Given the description of an element on the screen output the (x, y) to click on. 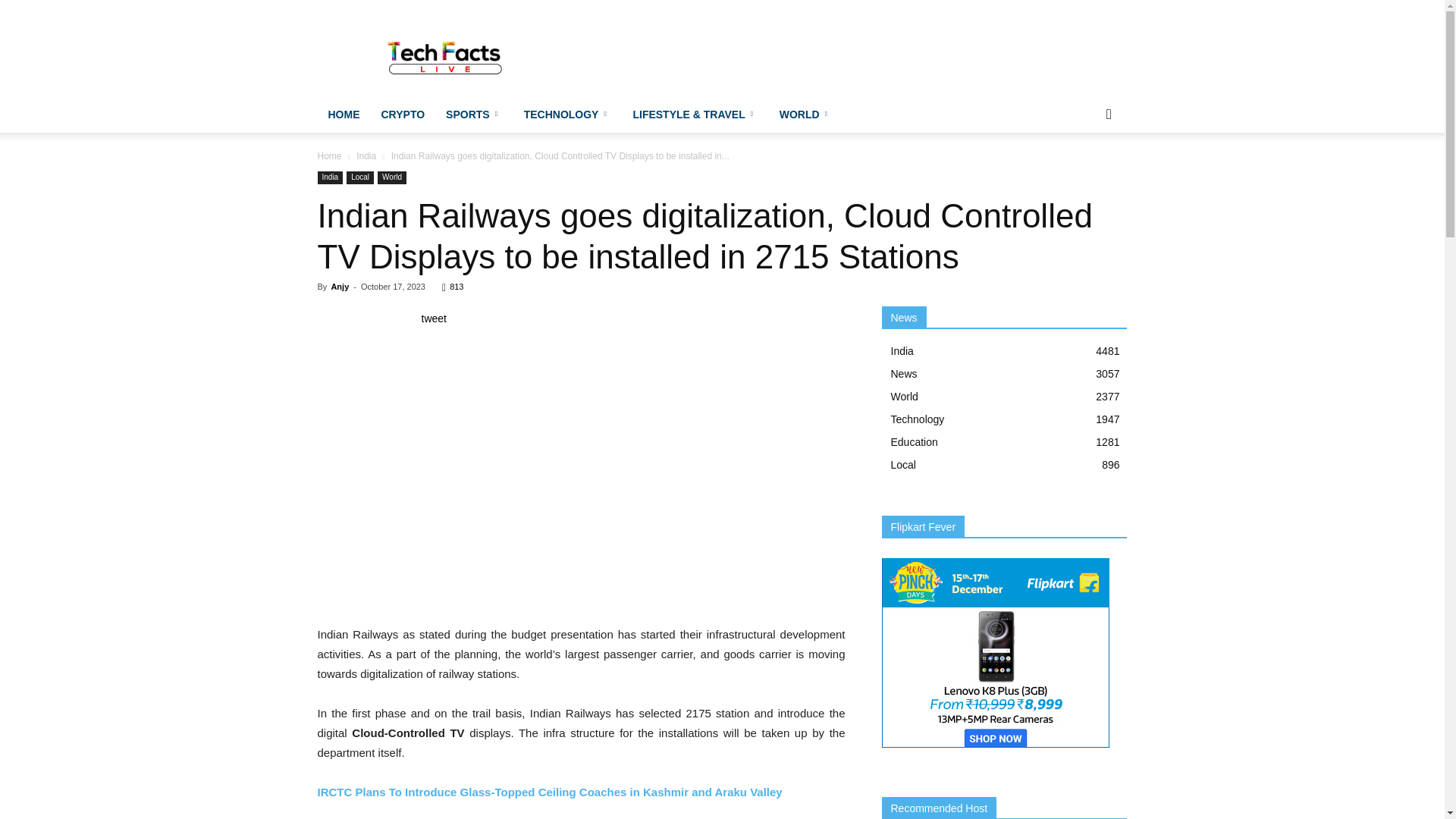
TF Live (446, 55)
View all posts in India (365, 155)
WORLD (805, 114)
HOME (343, 114)
CRYPTO (402, 114)
SPORTS (474, 114)
TECHNOLOGY (568, 114)
